Given the description of an element on the screen output the (x, y) to click on. 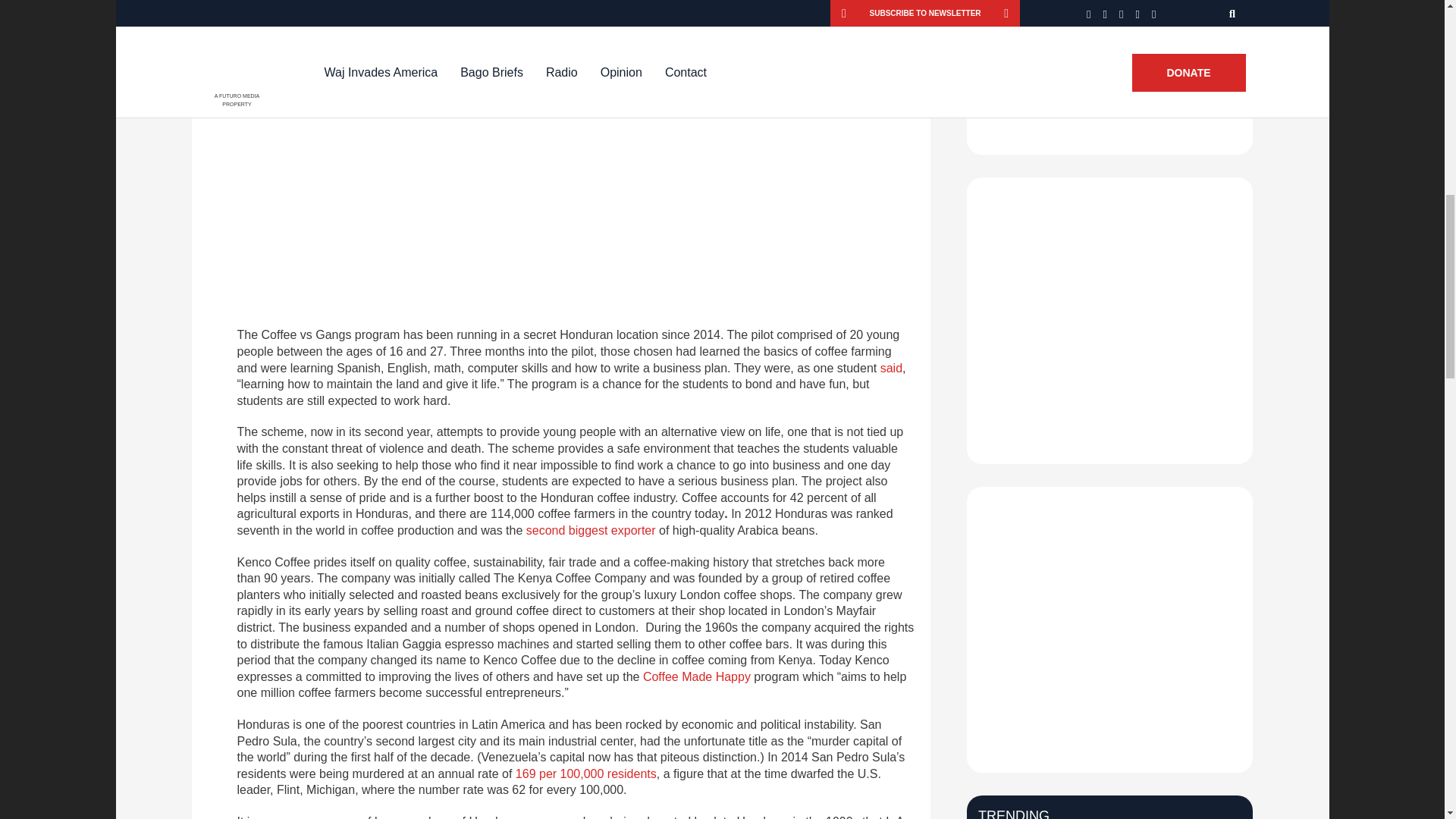
said (891, 367)
169 per 100,000 residents (585, 773)
second biggest exporter (590, 530)
Coffee Made Happy (697, 676)
